Given the description of an element on the screen output the (x, y) to click on. 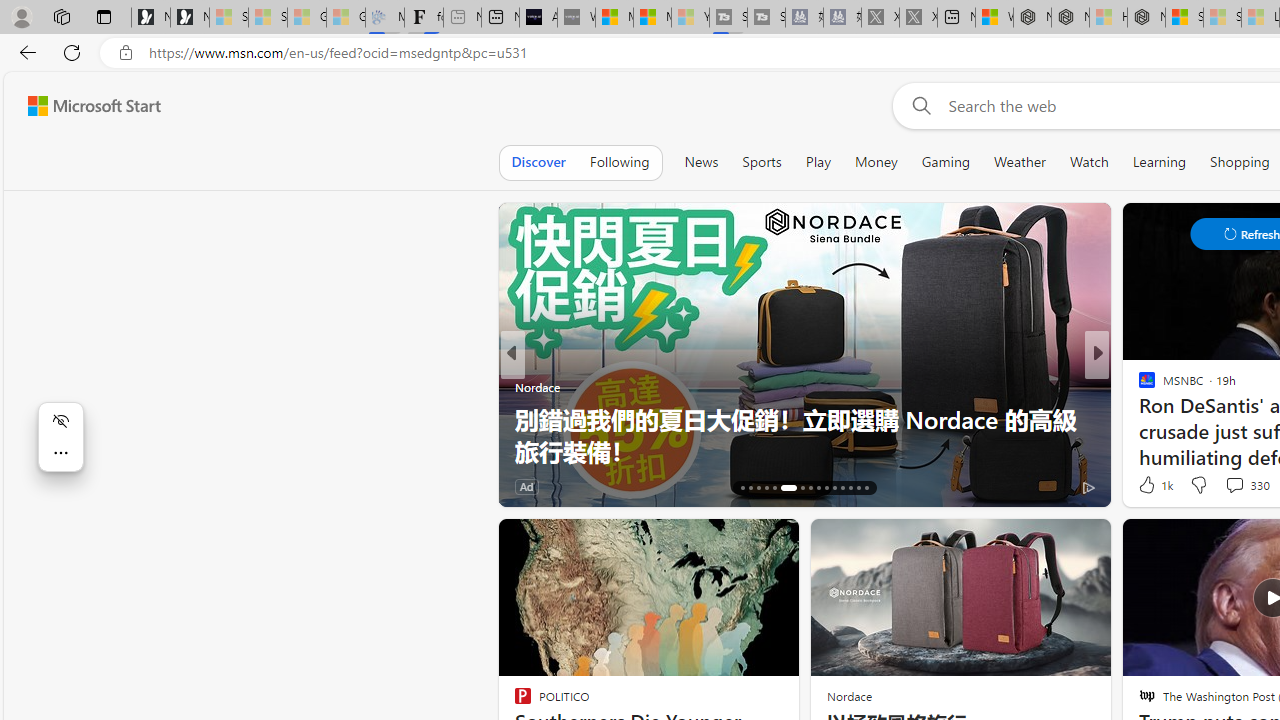
Newsweek (1138, 386)
AutomationID: tab-23 (810, 487)
Hide menu (60, 420)
The Atlantic (1138, 386)
View comments 330 Comment (1234, 485)
AI Voice Changer for PC and Mac - Voice.ai (537, 17)
AutomationID: tab-20 (774, 487)
You're following FOX News (445, 490)
View comments 6 Comment (11, 485)
Mini menu on text selection (61, 448)
View comments 55 Comment (1237, 486)
